Given the description of an element on the screen output the (x, y) to click on. 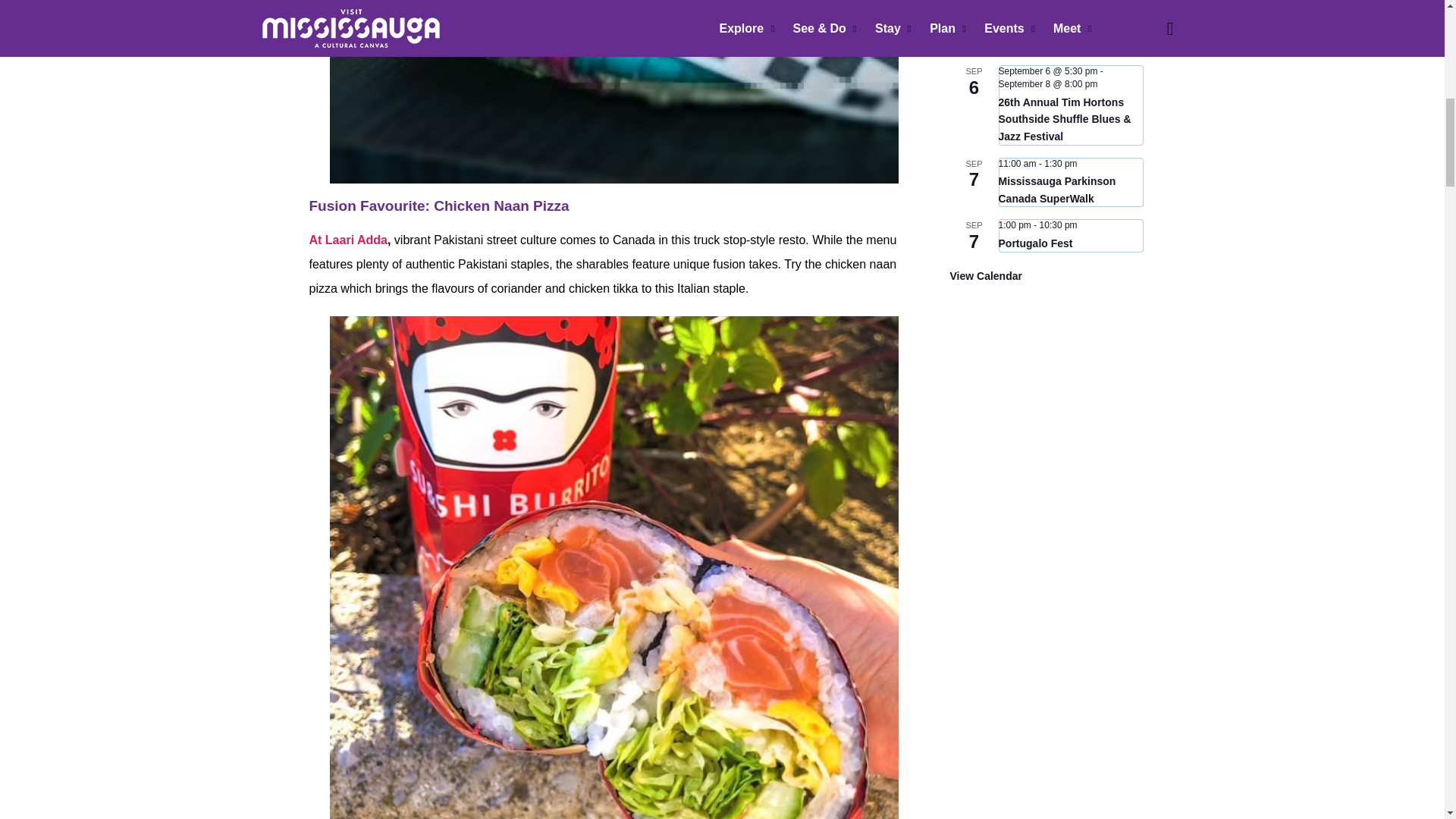
Timeless Ghazals with Shoeb Mortoza (1053, 36)
Portugalo Fest (1034, 243)
View more events. (985, 276)
Mississauga Parkinson Canada SuperWalk (1056, 190)
